Given the description of an element on the screen output the (x, y) to click on. 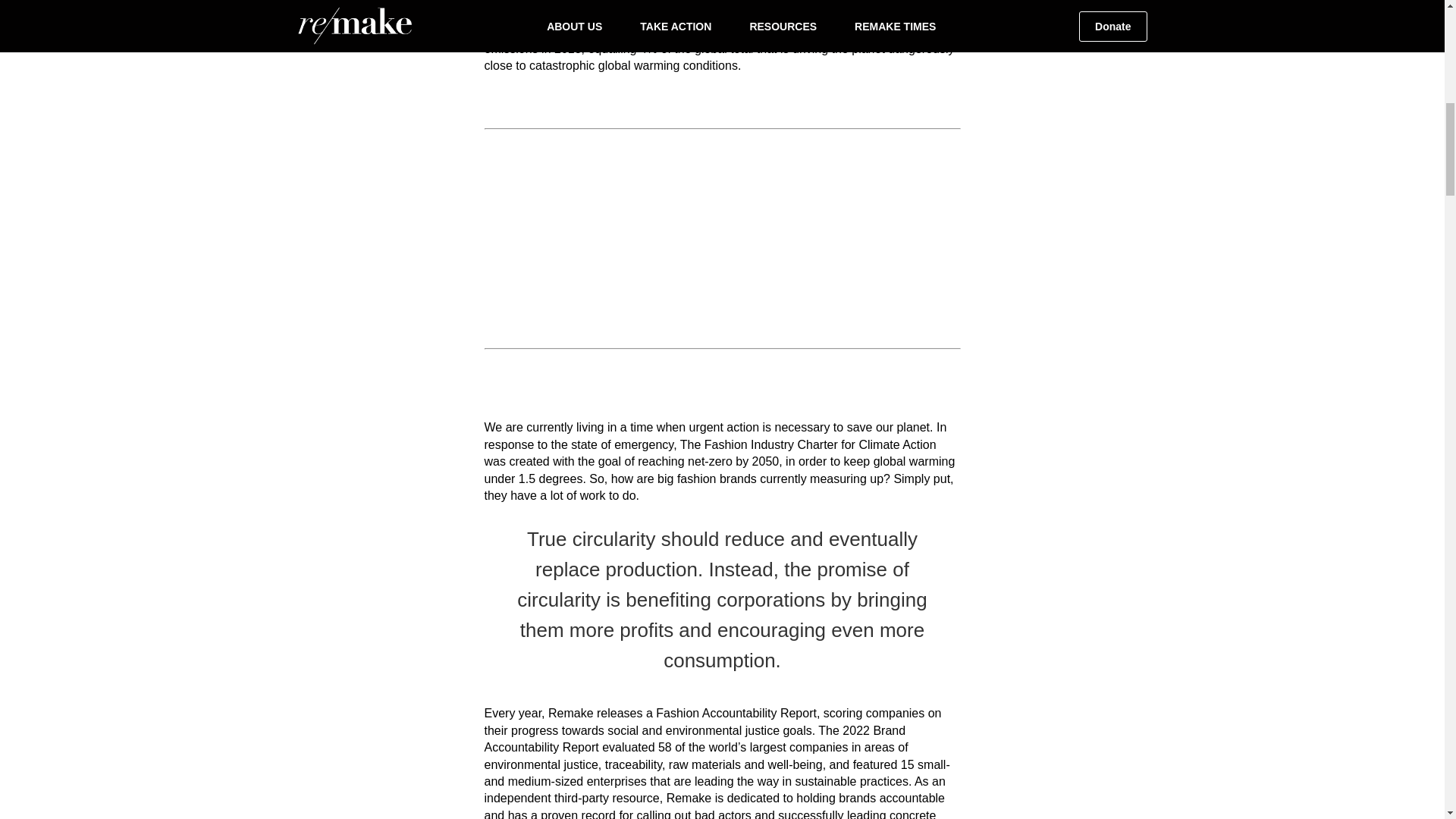
Form 0 (721, 238)
